Given the description of an element on the screen output the (x, y) to click on. 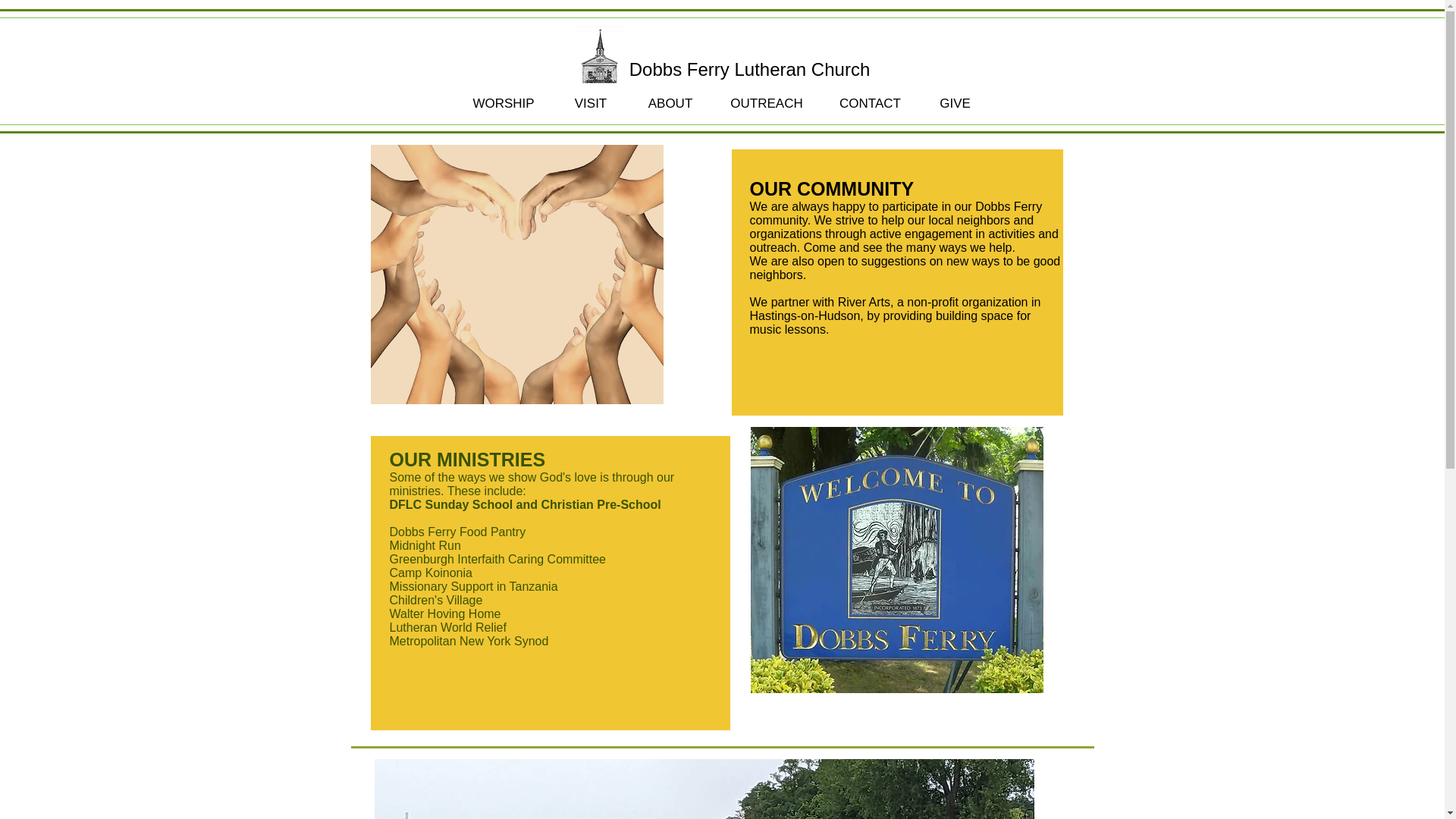
Dobbs Ferry Lutheran Church (749, 69)
ABOUT (669, 103)
OUTREACH (767, 103)
GIVE (954, 103)
VISIT (590, 103)
WORSHIP (502, 103)
CONTACT (869, 103)
